Given the description of an element on the screen output the (x, y) to click on. 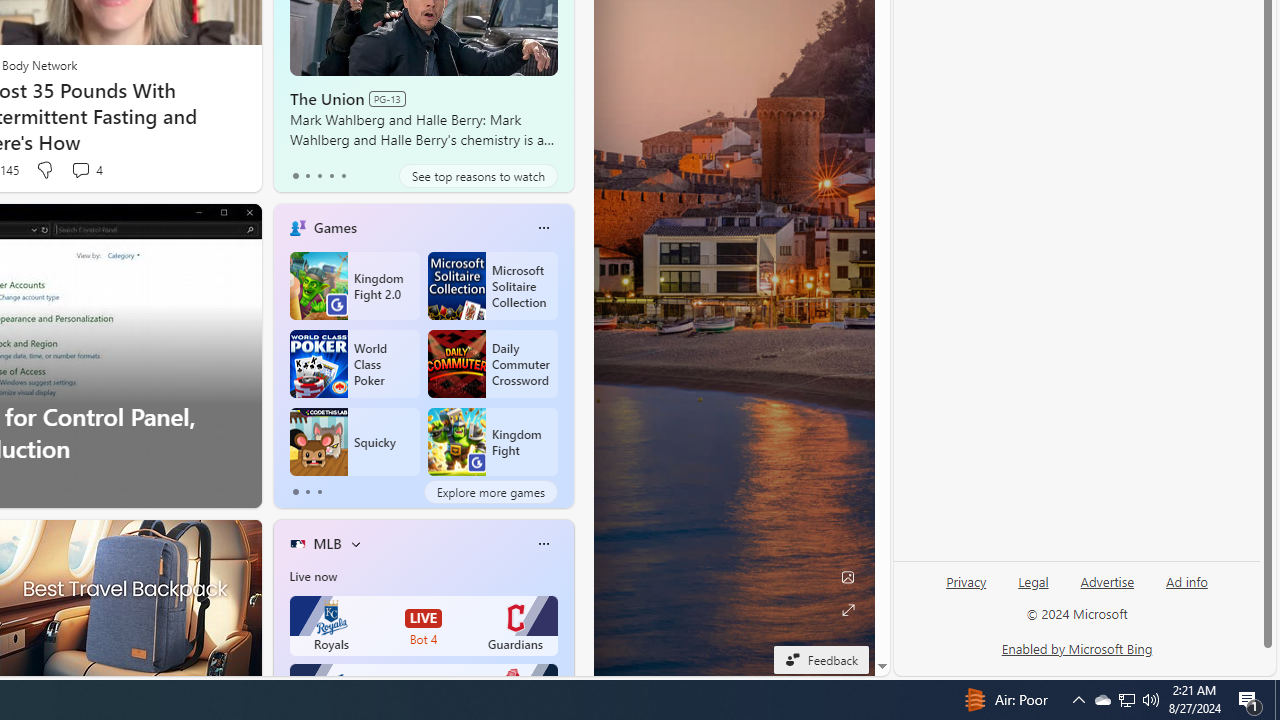
tab-2 (319, 491)
tab-3 (331, 175)
Edit Background (847, 577)
Expand background (847, 610)
View comments 4 Comment (86, 170)
Games (335, 227)
tab-0 (295, 491)
Royals LIVE Bot 4 Guardians (423, 625)
